Given the description of an element on the screen output the (x, y) to click on. 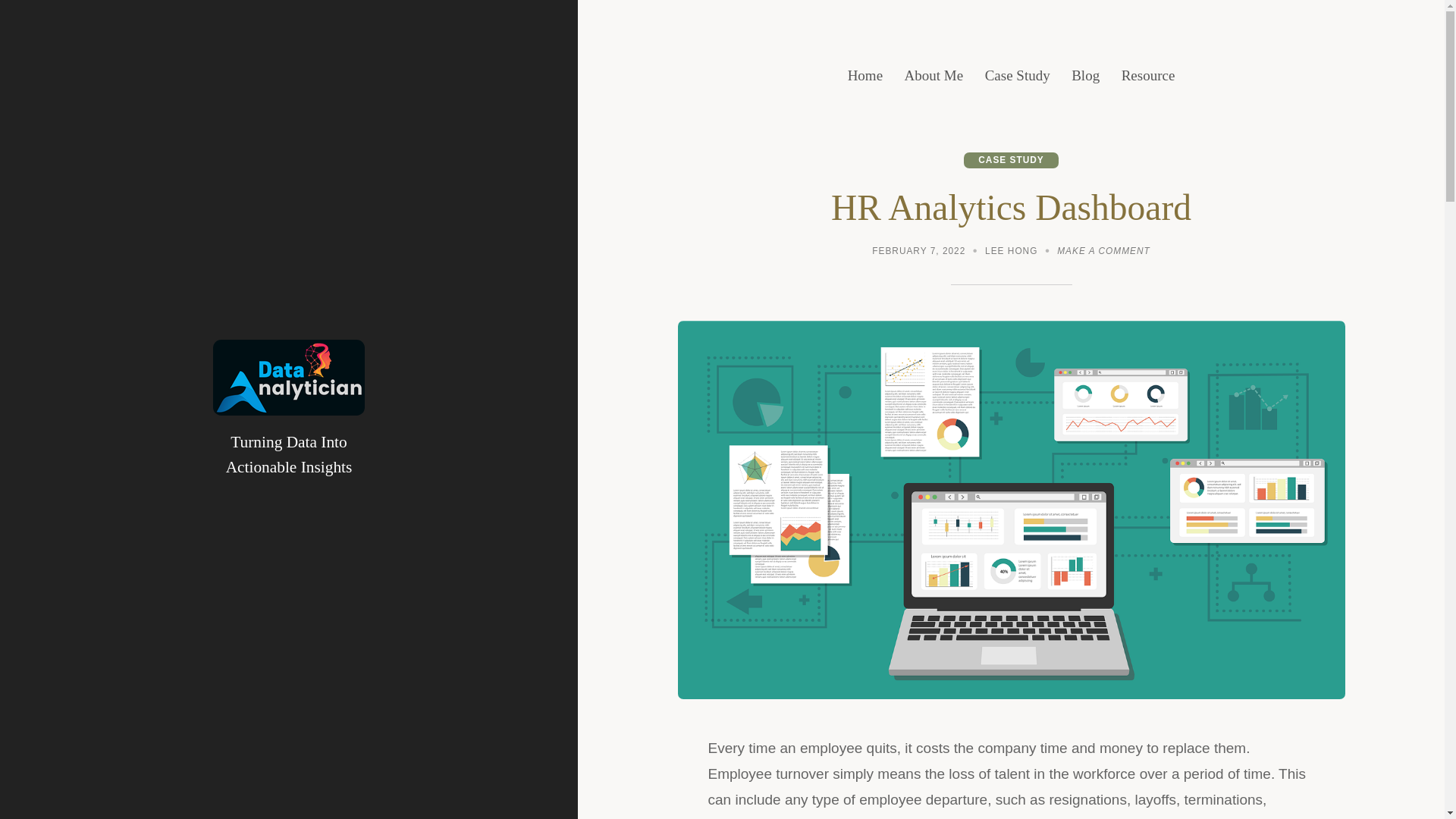
About Me (933, 76)
Resource (1147, 76)
LEE HONG (1010, 252)
FEBRUARY 7, 2022 (918, 252)
Case Study (1103, 252)
Home (1017, 76)
CASE STUDY (864, 76)
